Given the description of an element on the screen output the (x, y) to click on. 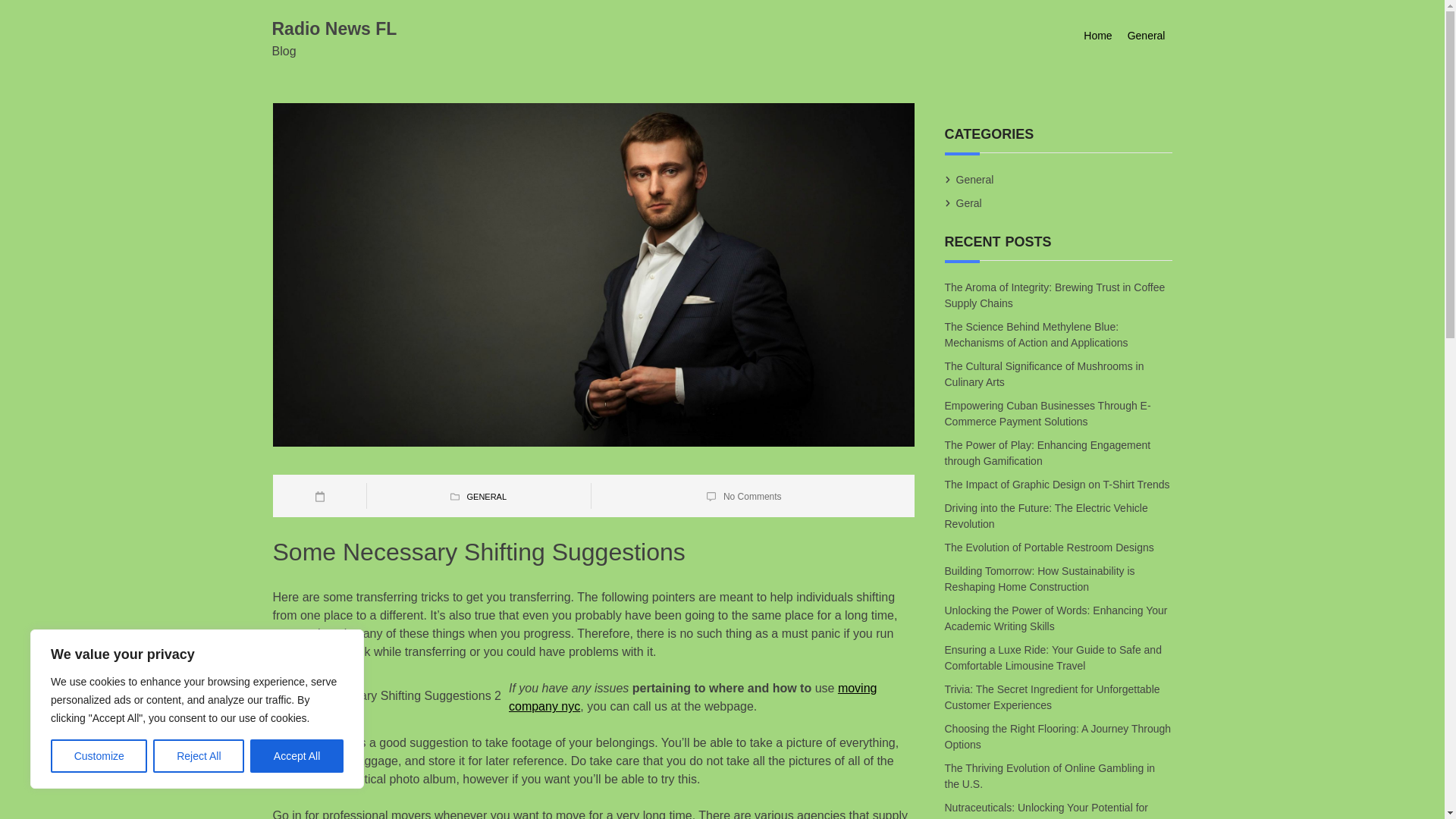
The Power of Play: Enhancing Engagement through Gamification (1047, 453)
Geral (968, 203)
GENERAL (485, 496)
The Impact of Graphic Design on T-Shirt Trends (1058, 484)
Reject All (198, 756)
Driving into the Future: The Electric Vehicle Revolution (1046, 516)
General (974, 179)
Home (1097, 35)
